Given the description of an element on the screen output the (x, y) to click on. 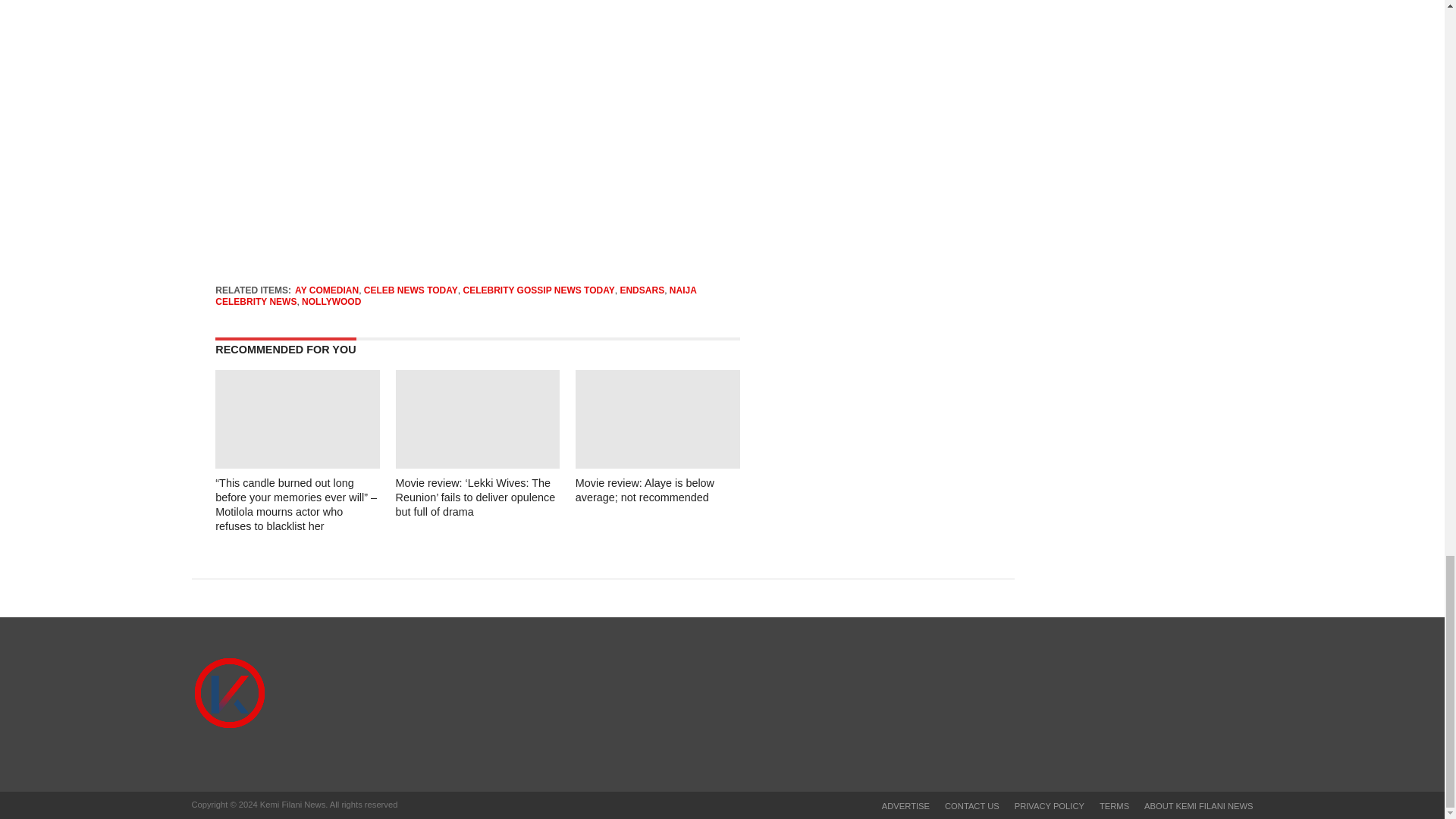
ENDSARS (641, 290)
AY COMEDIAN (326, 290)
CELEB NEWS TODAY (411, 290)
NOLLYWOOD (331, 301)
CELEBRITY GOSSIP NEWS TODAY (538, 290)
Movie review: Alaye is below average; not recommended (644, 489)
NAIJA CELEBRITY NEWS (455, 295)
Movie review: Alaye is below average; not recommended (657, 463)
